Given the description of an element on the screen output the (x, y) to click on. 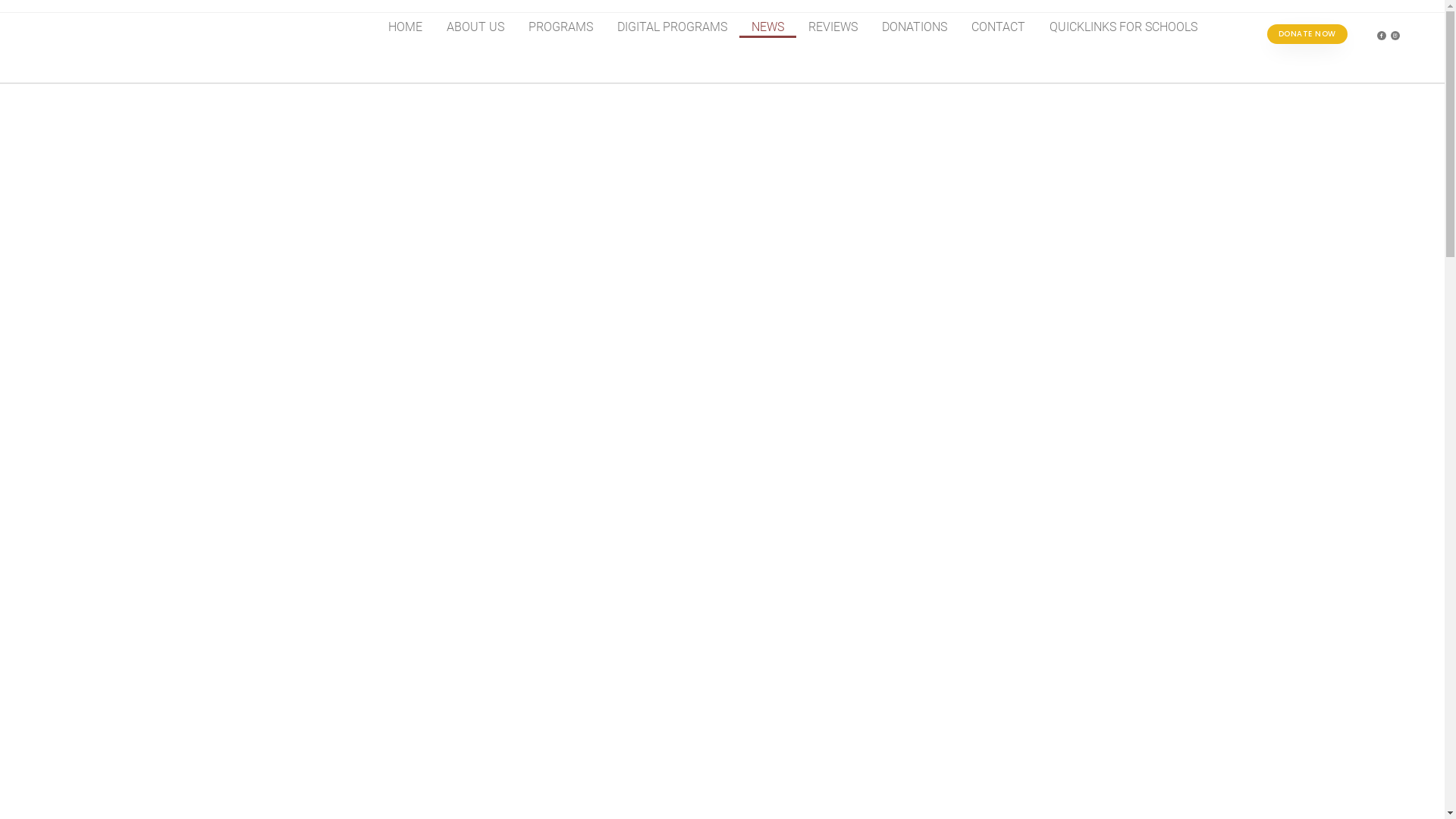
CONTACT Element type: text (998, 26)
DIGITAL PROGRAMS Element type: text (672, 26)
NEWS Element type: text (767, 26)
REVIEWS Element type: text (832, 26)
HOME Element type: text (405, 26)
PROGRAMS Element type: text (560, 26)
ABOUT US Element type: text (475, 26)
DONATE NOW Element type: text (1307, 33)
QUICKLINKS FOR SCHOOLS Element type: text (1123, 26)
DONATIONS Element type: text (914, 26)
